Given the description of an element on the screen output the (x, y) to click on. 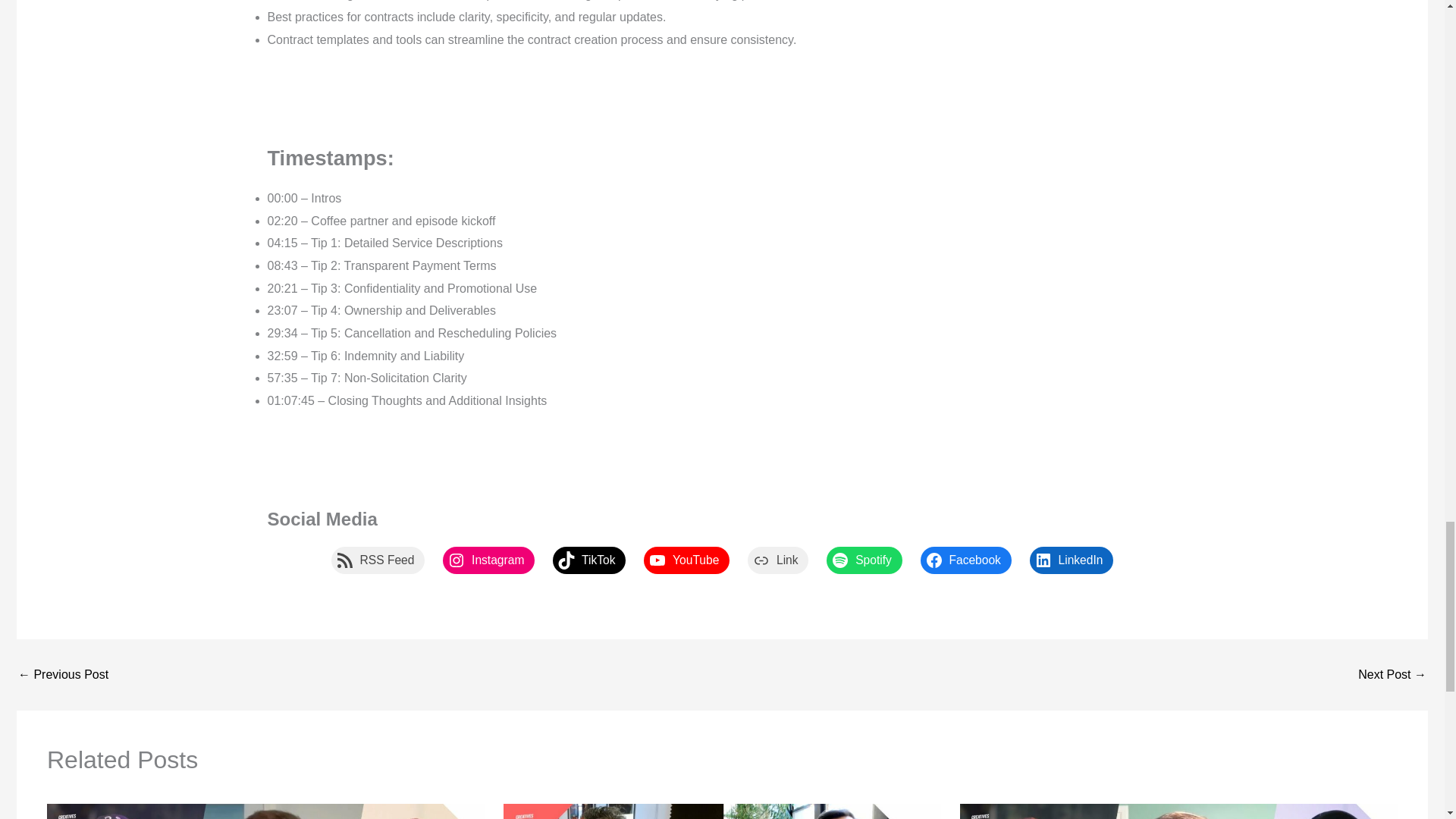
RSS Feed (378, 560)
TikTok (589, 560)
LinkedIn (1071, 560)
YouTube (686, 560)
Facebook (965, 560)
Link (778, 560)
Instagram (488, 560)
Spotify (864, 560)
